Given the description of an element on the screen output the (x, y) to click on. 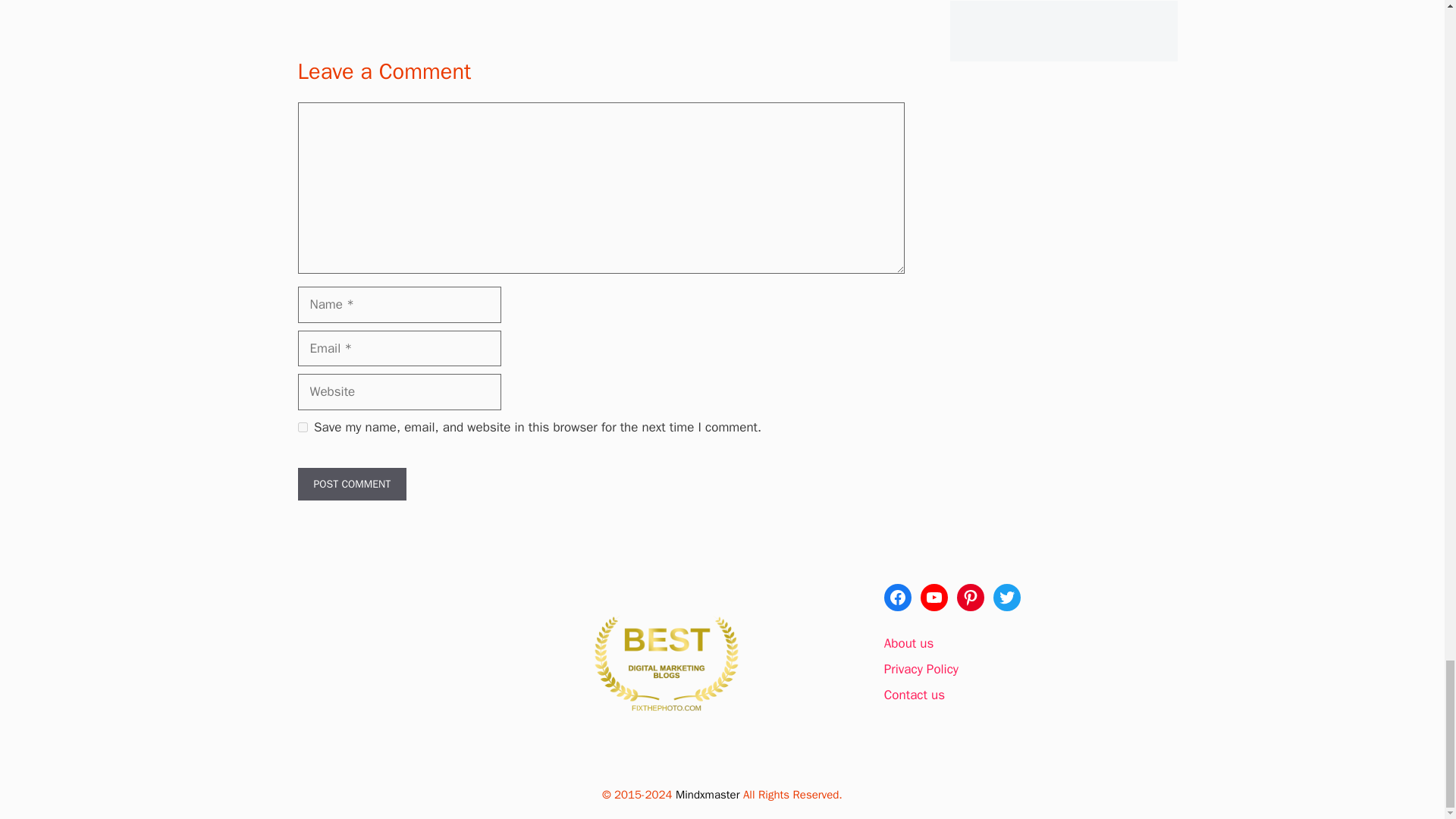
Post Comment (351, 483)
yes (302, 427)
